Given the description of an element on the screen output the (x, y) to click on. 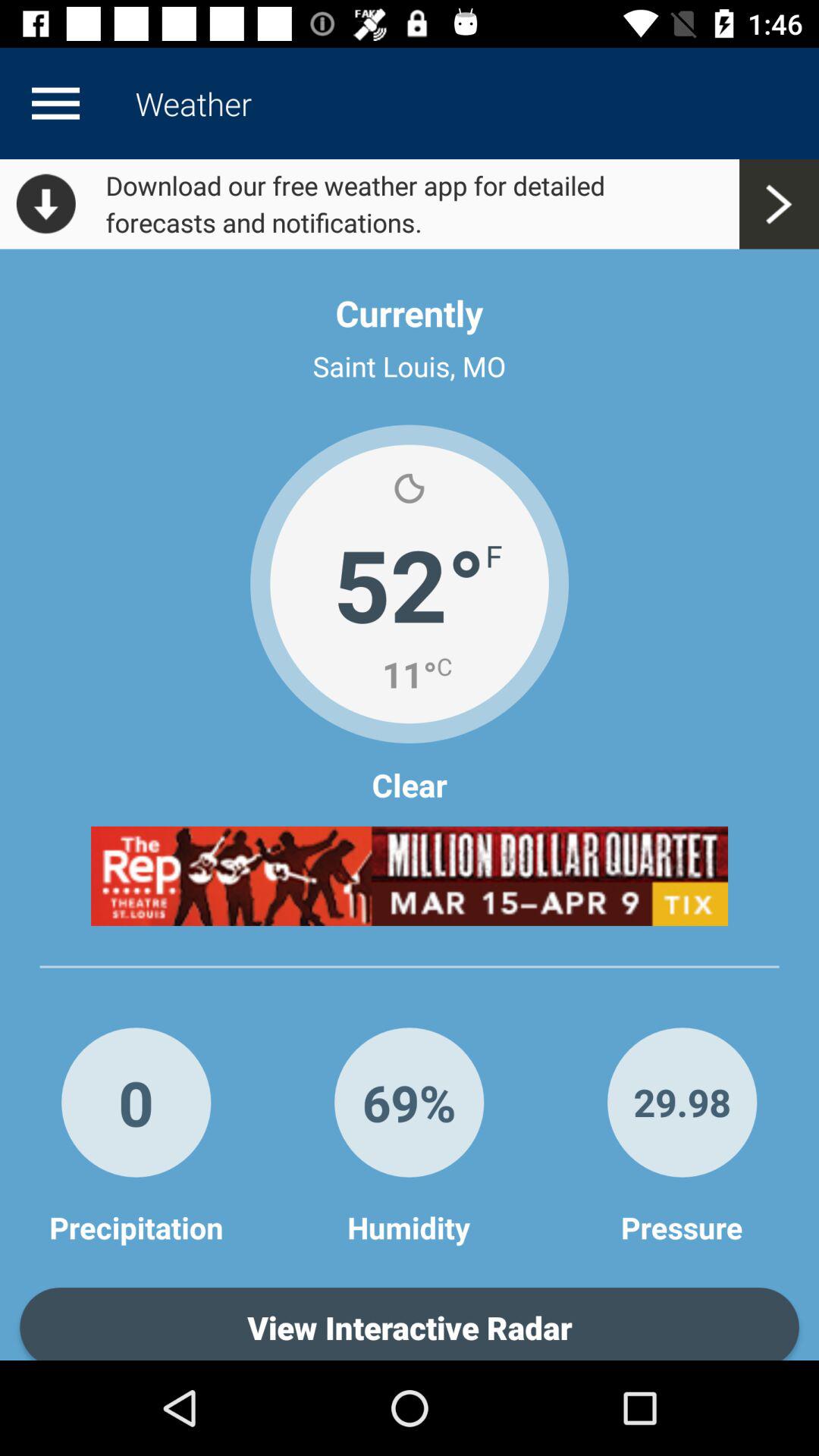
open menu (55, 103)
